Given the description of an element on the screen output the (x, y) to click on. 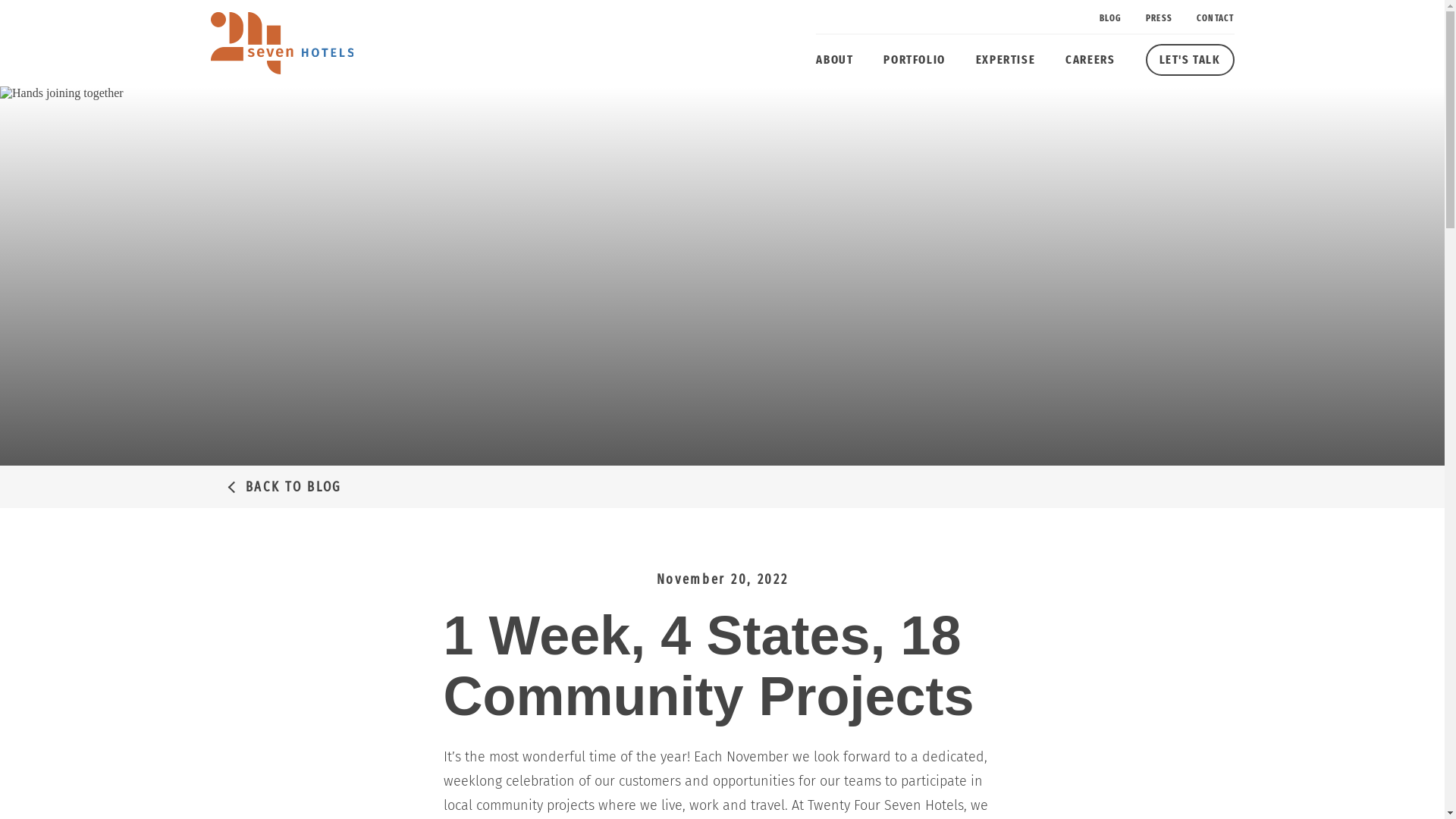
PRESS Element type: text (1158, 17)
LET'S TALK Element type: text (1189, 59)
EXPERTISE Element type: text (1005, 59)
BLOG Element type: text (1110, 17)
ABOUT Element type: text (834, 59)
BACK TO BLOG Element type: text (721, 486)
CAREERS Element type: text (1089, 59)
CONTACT Element type: text (1214, 17)
PORTFOLIO Element type: text (913, 59)
